Given the description of an element on the screen output the (x, y) to click on. 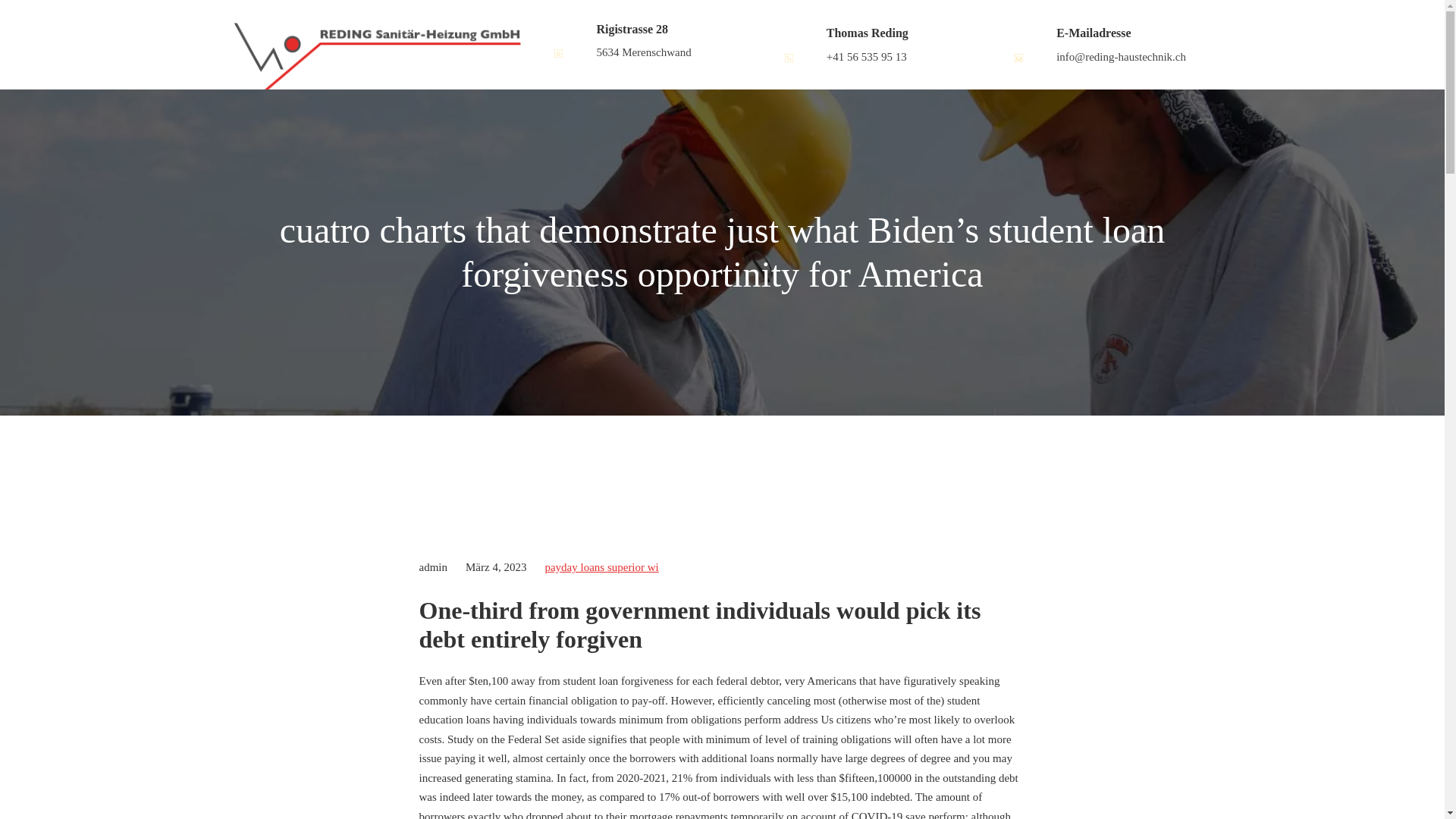
payday loans superior wi (601, 567)
